Given the description of an element on the screen output the (x, y) to click on. 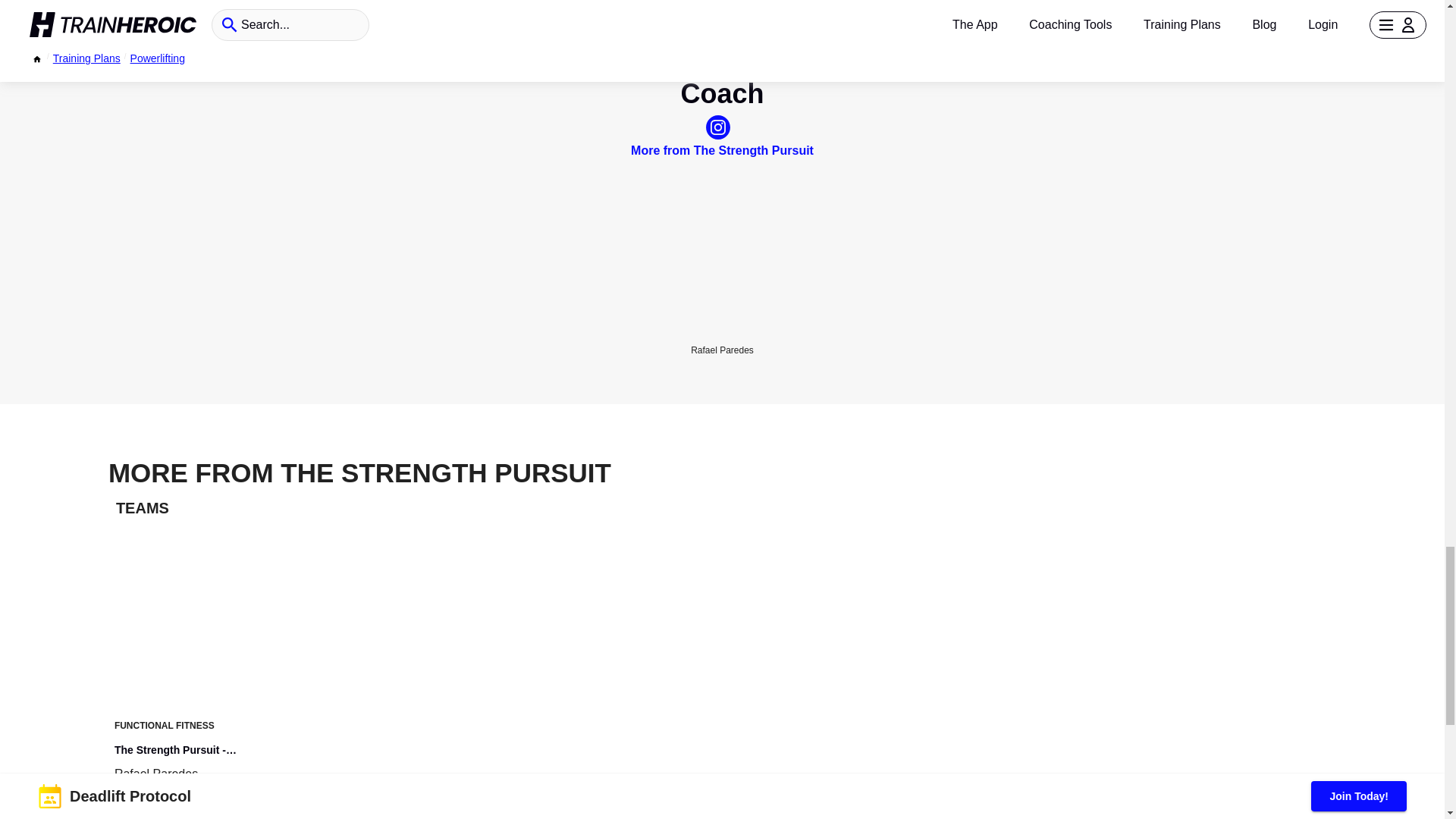
Subscription (254, 817)
More from The Strength Pursuit (721, 150)
The Strength Pursuit - Strongman (199, 758)
The Strength Pursuit - Strongman (199, 749)
